Given the description of an element on the screen output the (x, y) to click on. 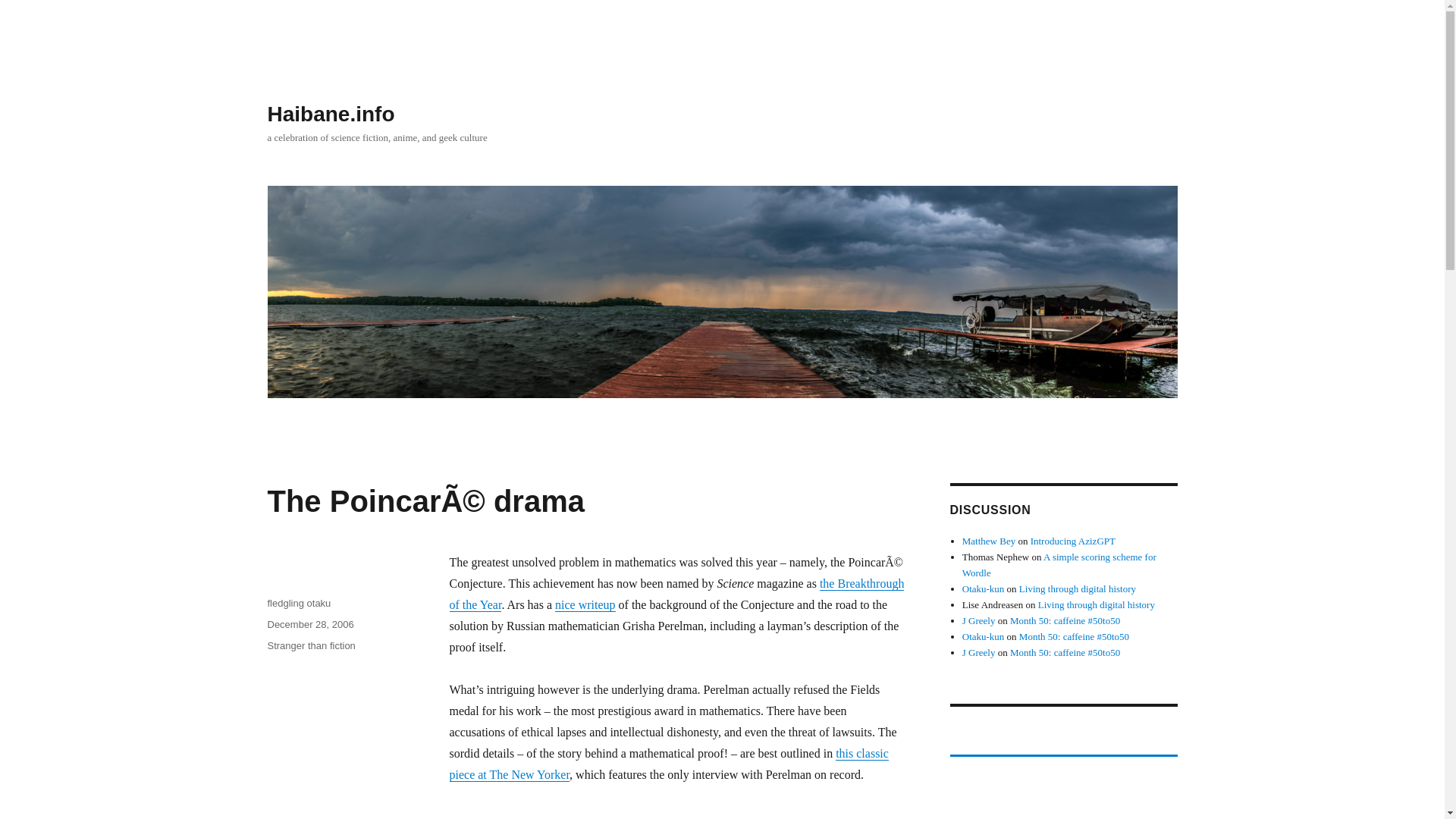
A simple scoring scheme for Wordle (1059, 564)
December 28, 2006 (309, 624)
this classic piece at The New Yorker (668, 763)
Stranger than fiction (310, 645)
fledgling otaku (298, 603)
J Greely (978, 620)
Living through digital history (1096, 604)
Introducing AzizGPT (1072, 541)
Living through digital history (1077, 588)
the Breakthrough of the Year (676, 593)
